Given the description of an element on the screen output the (x, y) to click on. 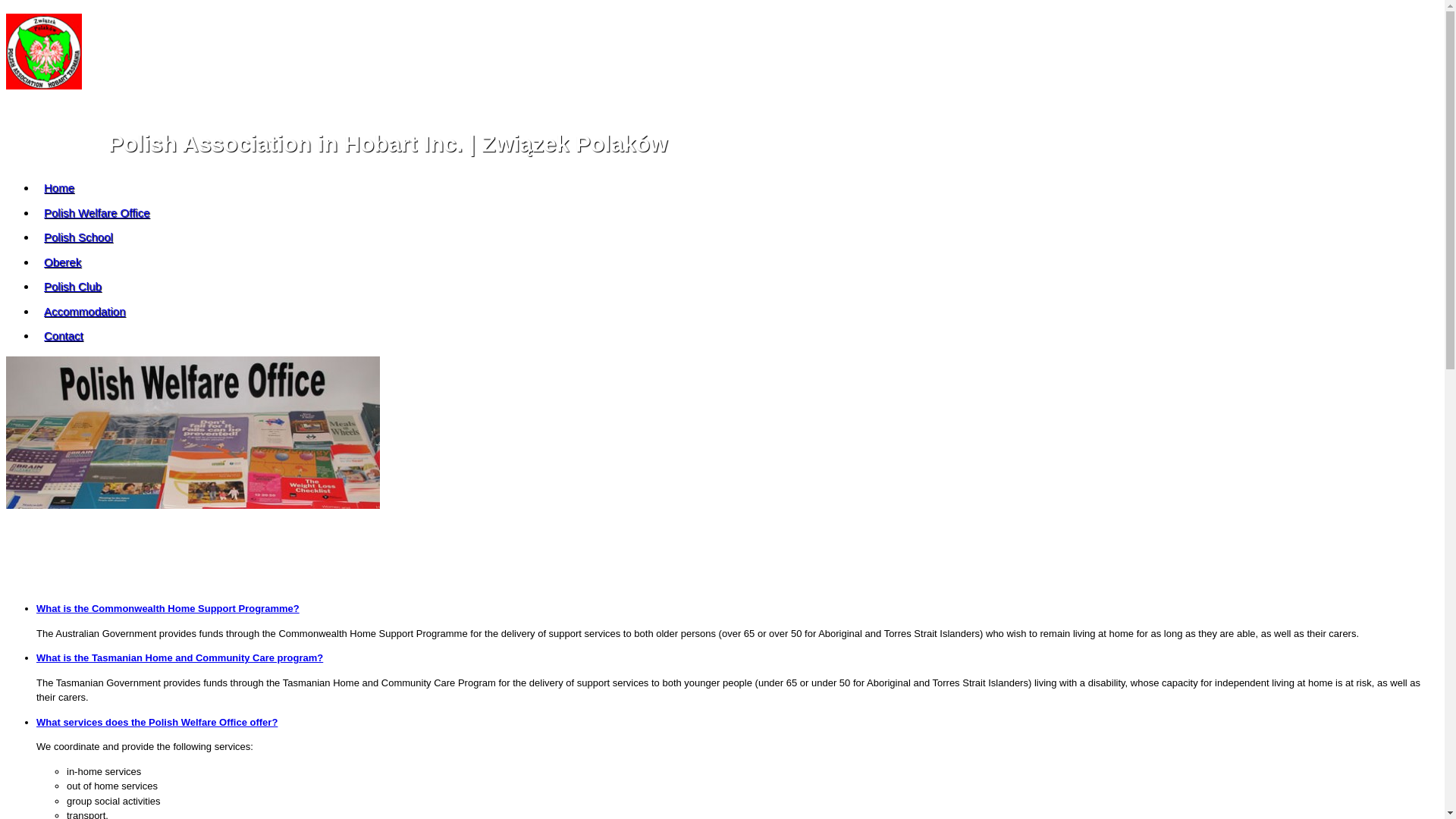
What is the Commonwealth Home Support Programme? Element type: text (167, 608)
Oberek Element type: text (62, 261)
What services does the Polish Welfare Office offer? Element type: text (156, 722)
Polish Welfare Office Element type: text (96, 212)
Polish School Element type: text (77, 236)
Contact Element type: text (63, 335)
Polish Club Element type: text (72, 285)
What is the Tasmanian Home and Community Care program? Element type: text (179, 657)
Accommodation Element type: text (84, 310)
Home Element type: text (58, 187)
